Given the description of an element on the screen output the (x, y) to click on. 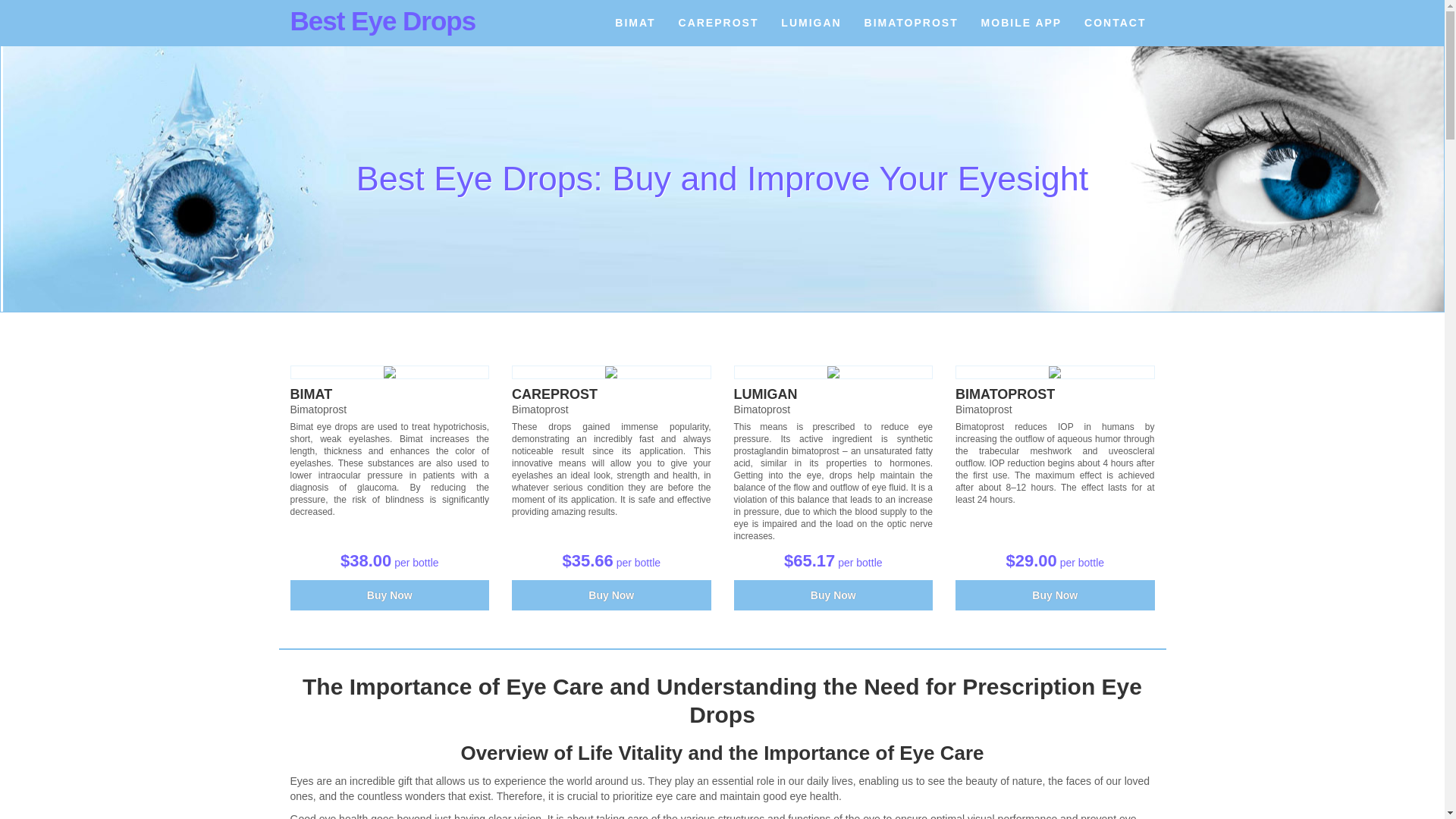
Careprost (611, 372)
Best Eye Drops: Buy and Improve Your Eyesight (382, 20)
Buy Now (833, 594)
Bimat (310, 394)
Careprost (554, 394)
CAREPROST (554, 394)
Best Eye Drops (382, 20)
BIMATOPROST (1004, 394)
CAREPROST (718, 22)
Buy Now (389, 594)
Buy Now (611, 594)
BIMAT (635, 22)
Lumigan (765, 394)
Buy Now (833, 594)
Bimatoprost (1004, 394)
